Given the description of an element on the screen output the (x, y) to click on. 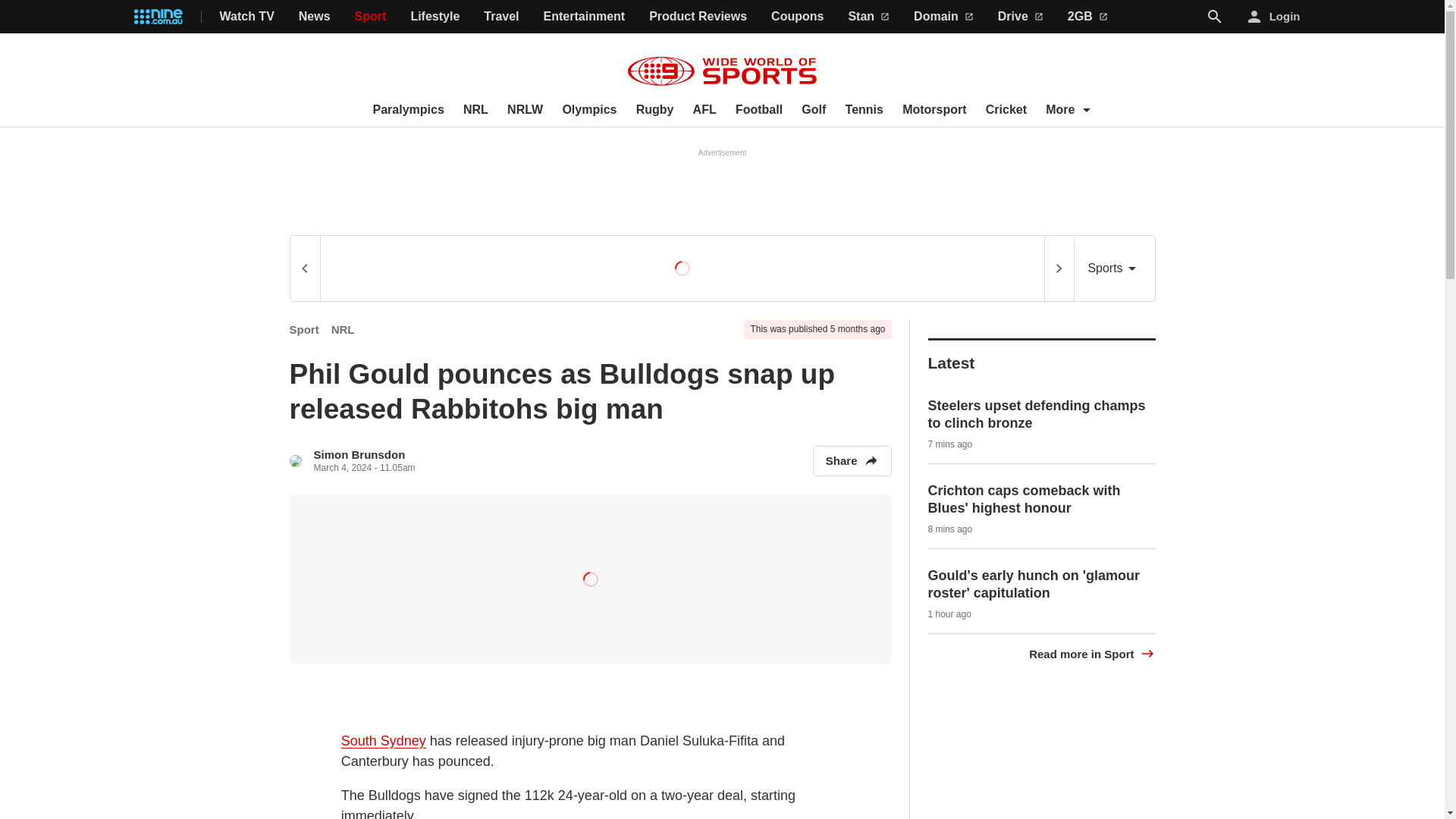
NRLW (524, 109)
Sport (371, 16)
Watch TV (247, 16)
Search (1214, 16)
Coupons (797, 16)
Search (1214, 16)
dropDown (1086, 109)
Domain (944, 16)
Drive (1020, 16)
Paralympics (407, 109)
